Given the description of an element on the screen output the (x, y) to click on. 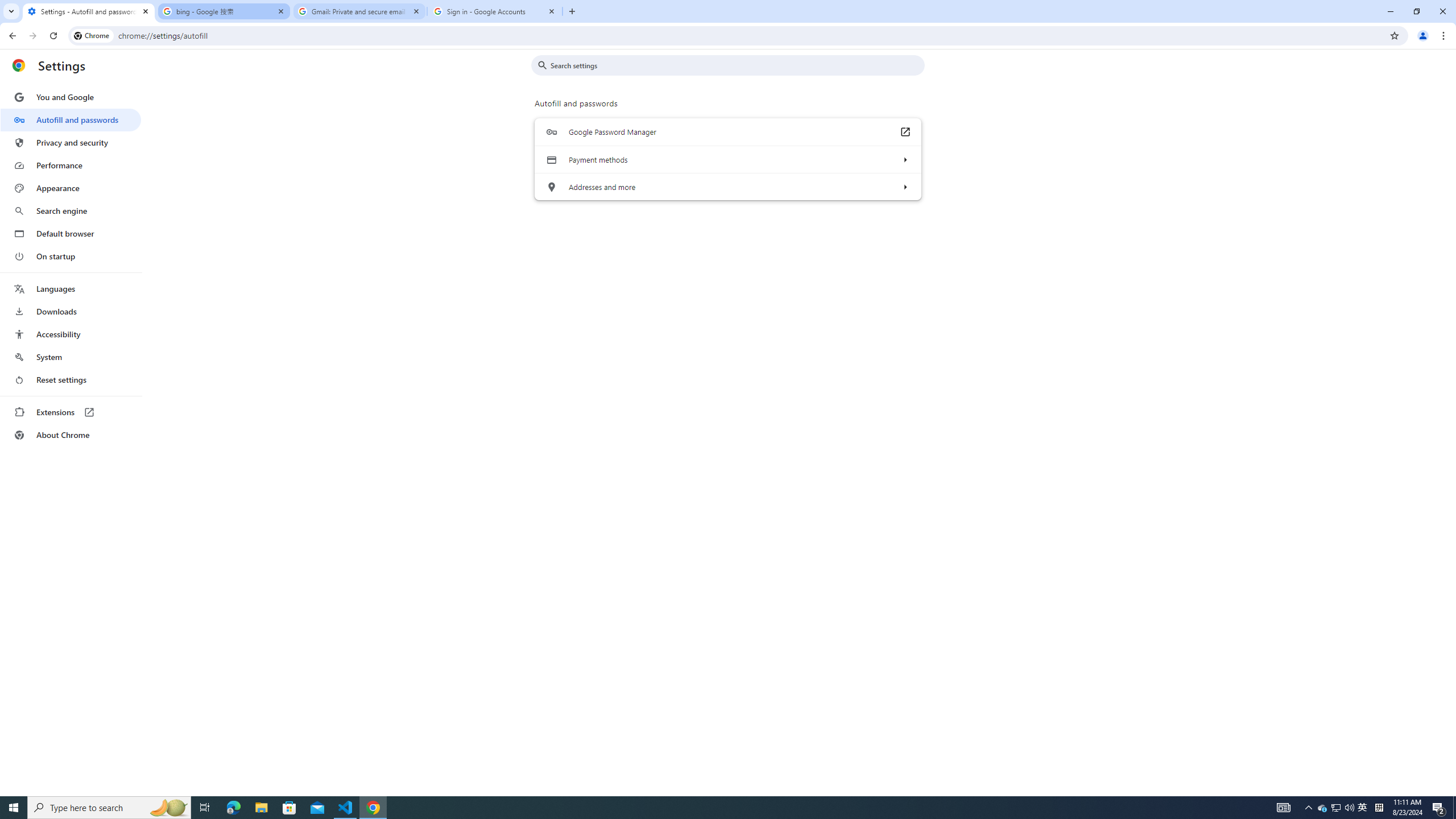
Google (68, 78)
Microsoft (164, 375)
